Given the description of an element on the screen output the (x, y) to click on. 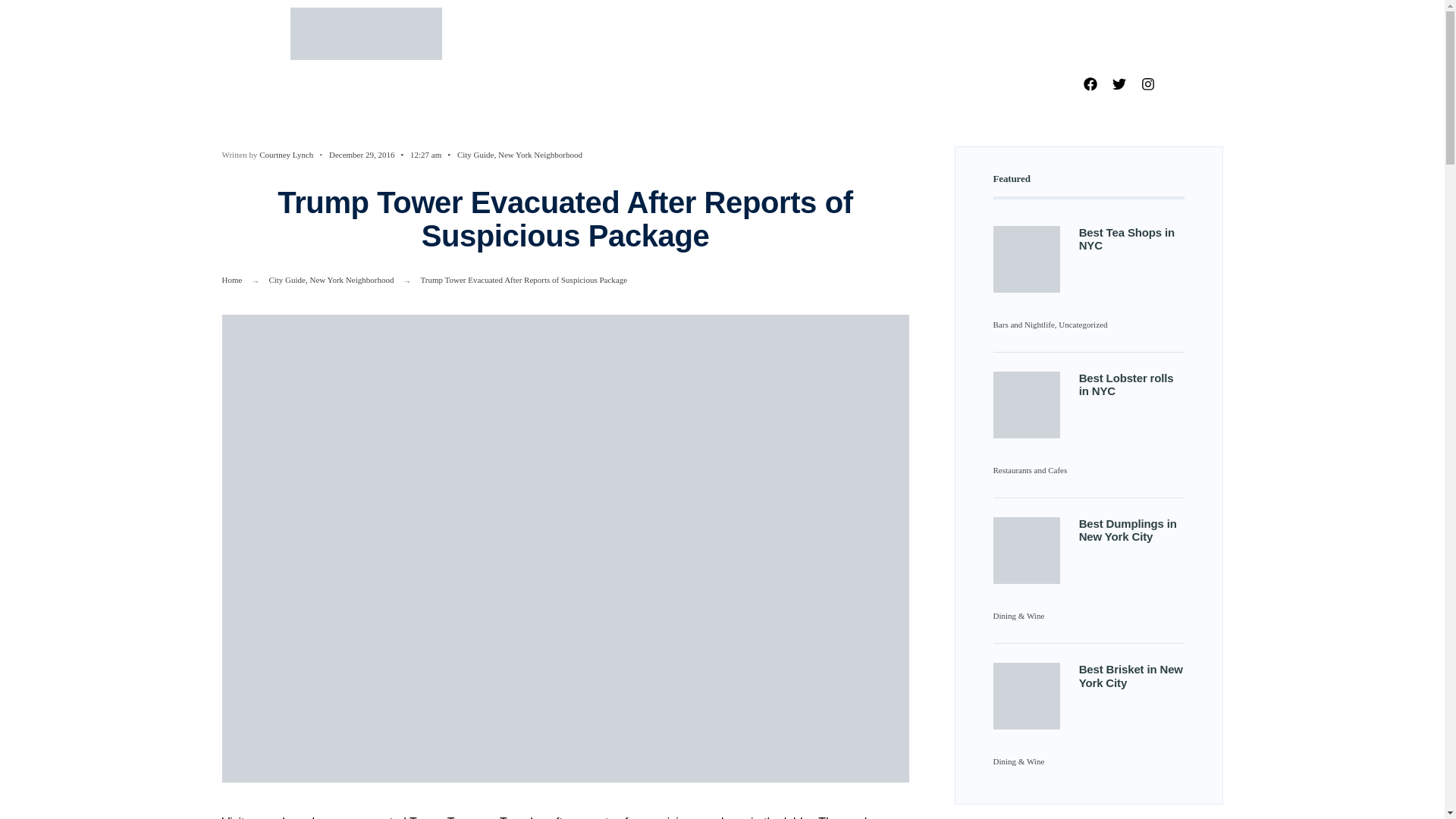
Posts by Courtney Lynch (286, 153)
Best Lobster rolls in NYC (1125, 384)
Best Dumplings in New York City (1025, 549)
Best Tea Shops in NYC (1126, 238)
Best Brisket in New York City (1130, 675)
Best Brisket in New York City (1025, 695)
Best Dumplings in New York City (1127, 529)
Best Tea Shops in NYC (1025, 259)
Best Lobster rolls in NYC (1025, 404)
